Given the description of an element on the screen output the (x, y) to click on. 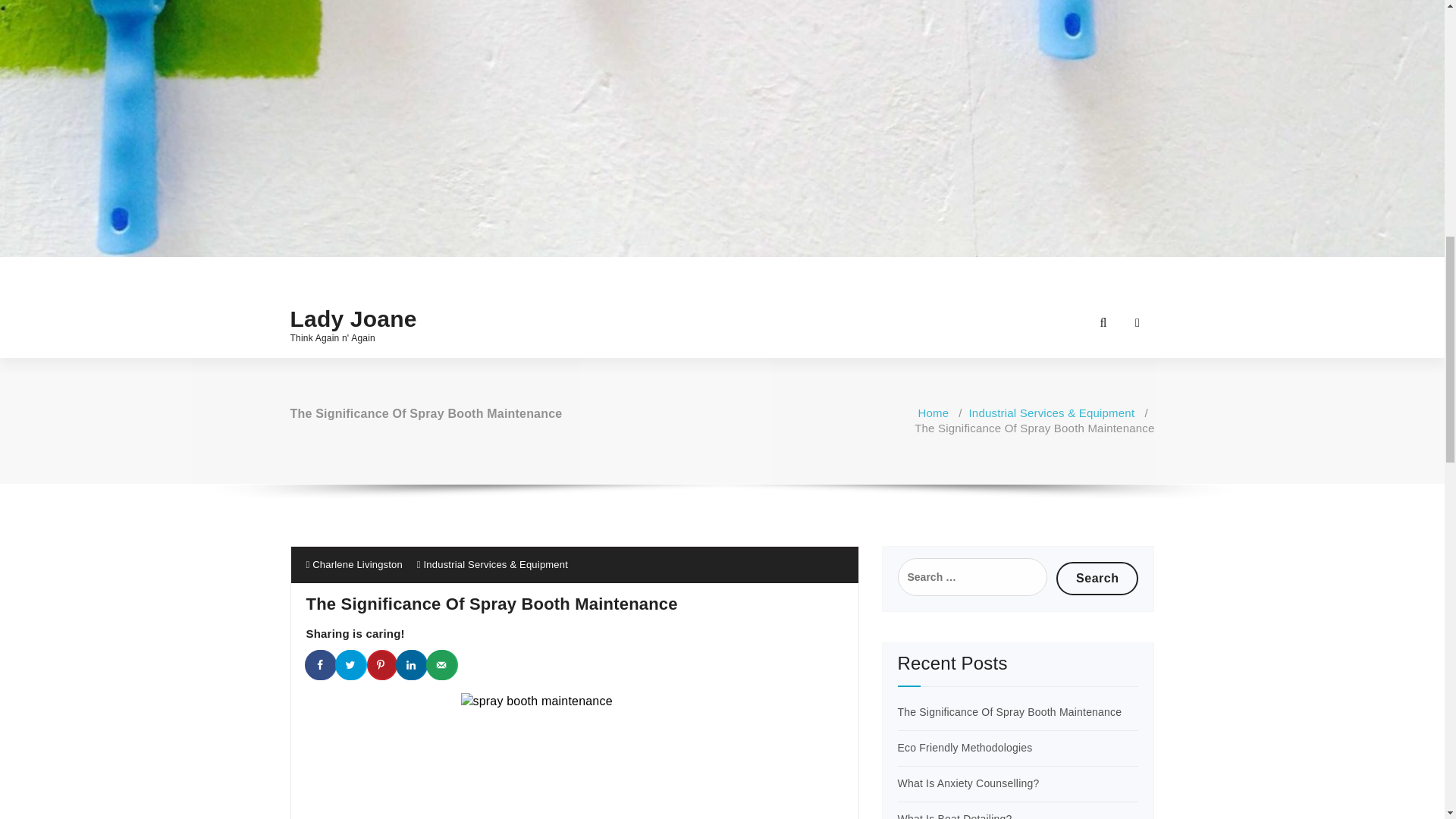
Charlene Livingston (354, 564)
Send over email (443, 665)
Share on Twitter (351, 665)
What Is Anxiety Counselling? (968, 783)
What Is Boat Detailing? (954, 816)
Search (1097, 578)
The Significance Of Spray Booth Maintenance (1010, 711)
spray booth maintenance (574, 755)
Home (933, 412)
Save to Pinterest (381, 665)
